Given the description of an element on the screen output the (x, y) to click on. 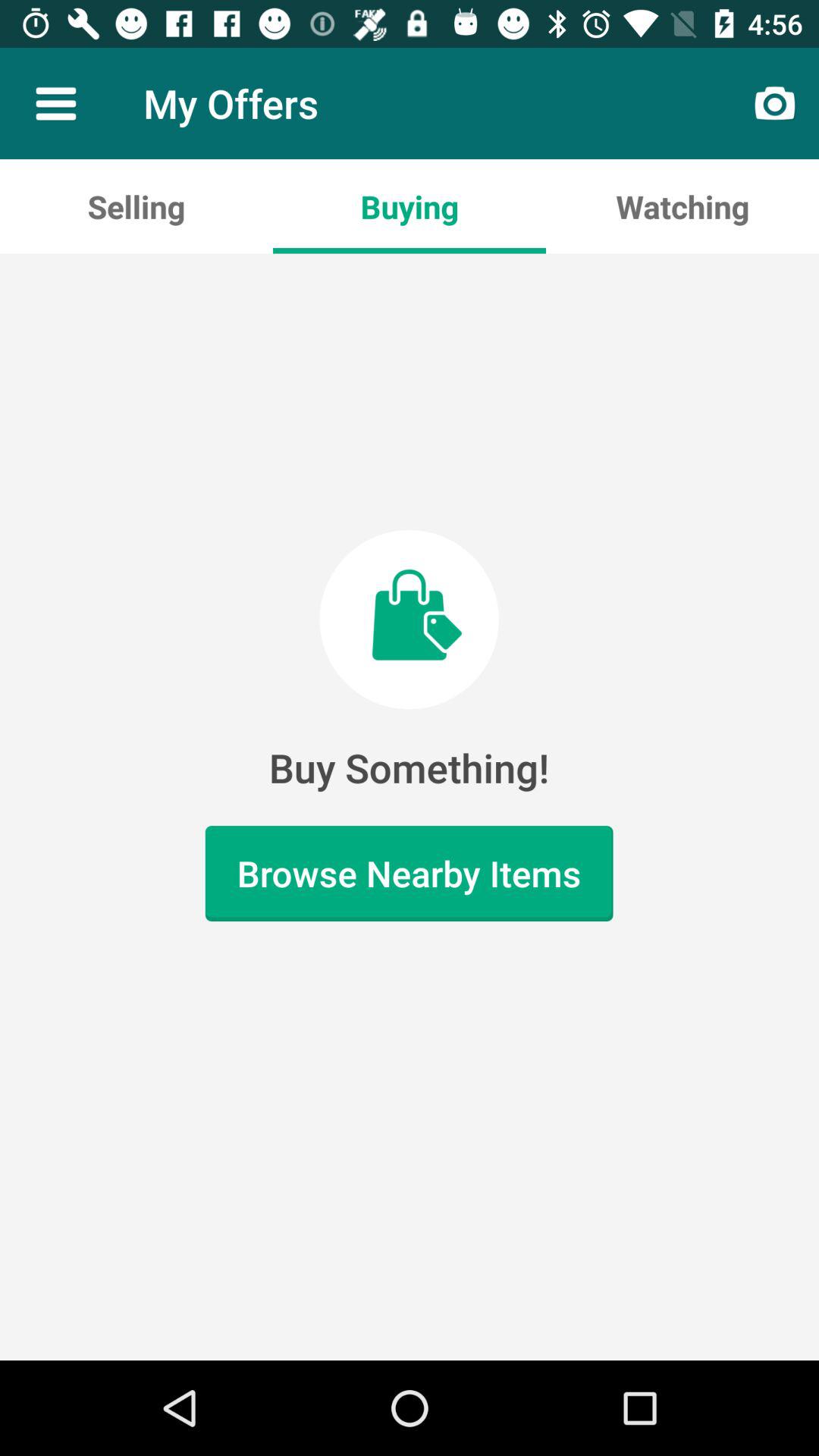
turn off item above watching icon (775, 103)
